Given the description of an element on the screen output the (x, y) to click on. 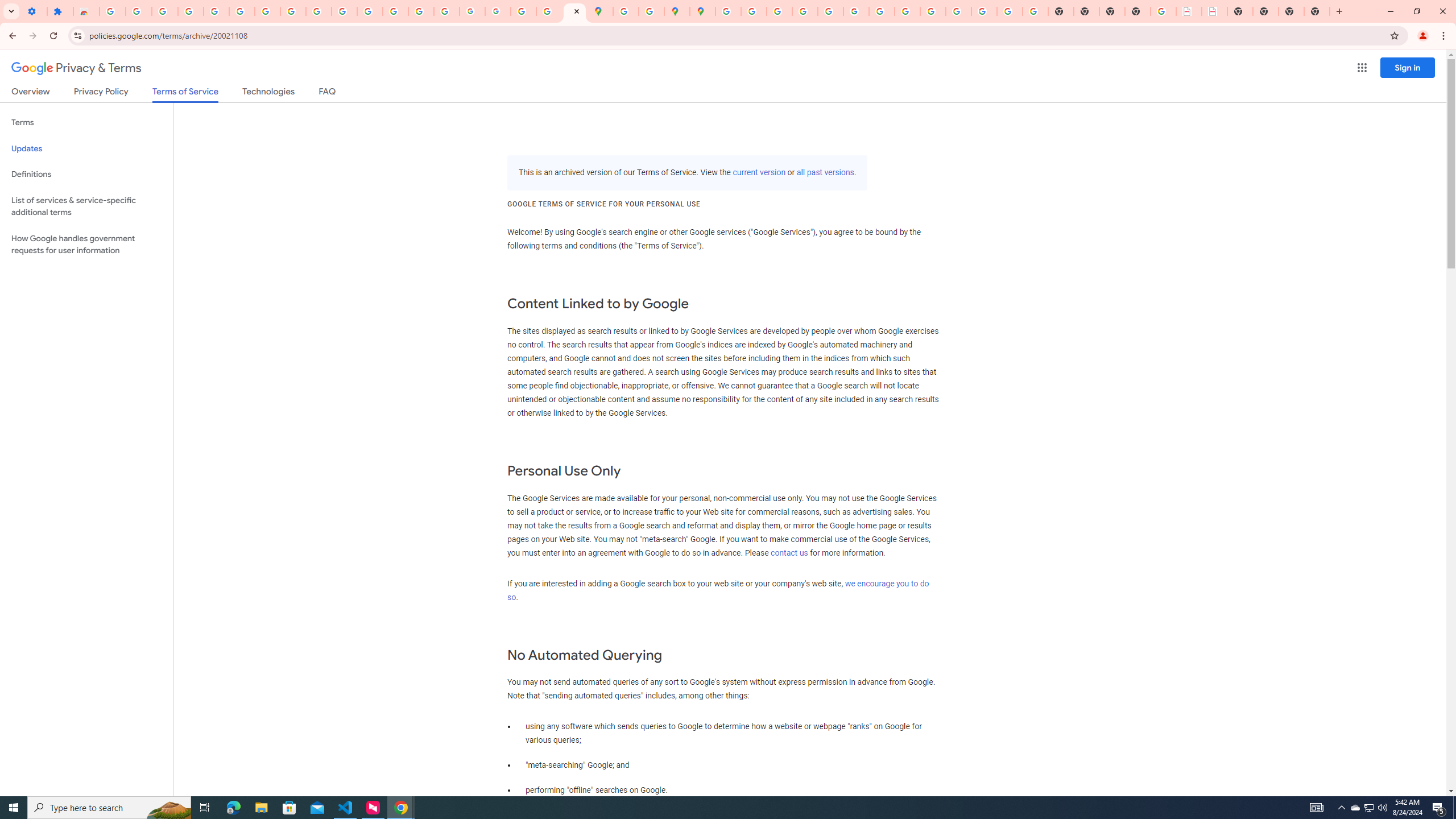
contact us (789, 552)
Definitions (86, 174)
Safety in Our Products - Google Safety Center (651, 11)
Sign in - Google Accounts (727, 11)
Delete photos & videos - Computer - Google Photos Help (165, 11)
